Given the description of an element on the screen output the (x, y) to click on. 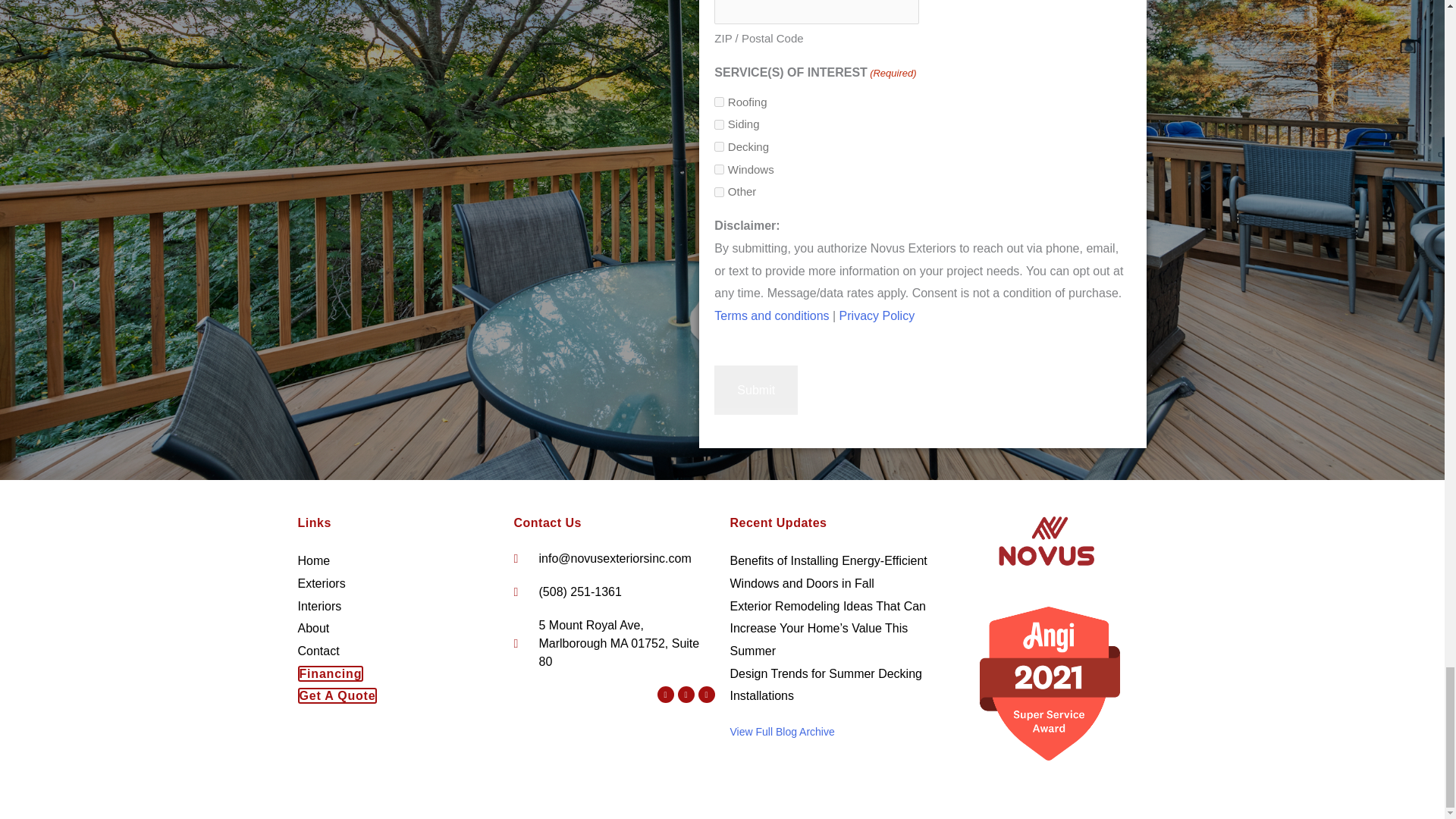
Windows (718, 169)
Submit (755, 390)
Other (718, 192)
Siding (718, 124)
Decking (718, 146)
Roofing (718, 102)
